Given the description of an element on the screen output the (x, y) to click on. 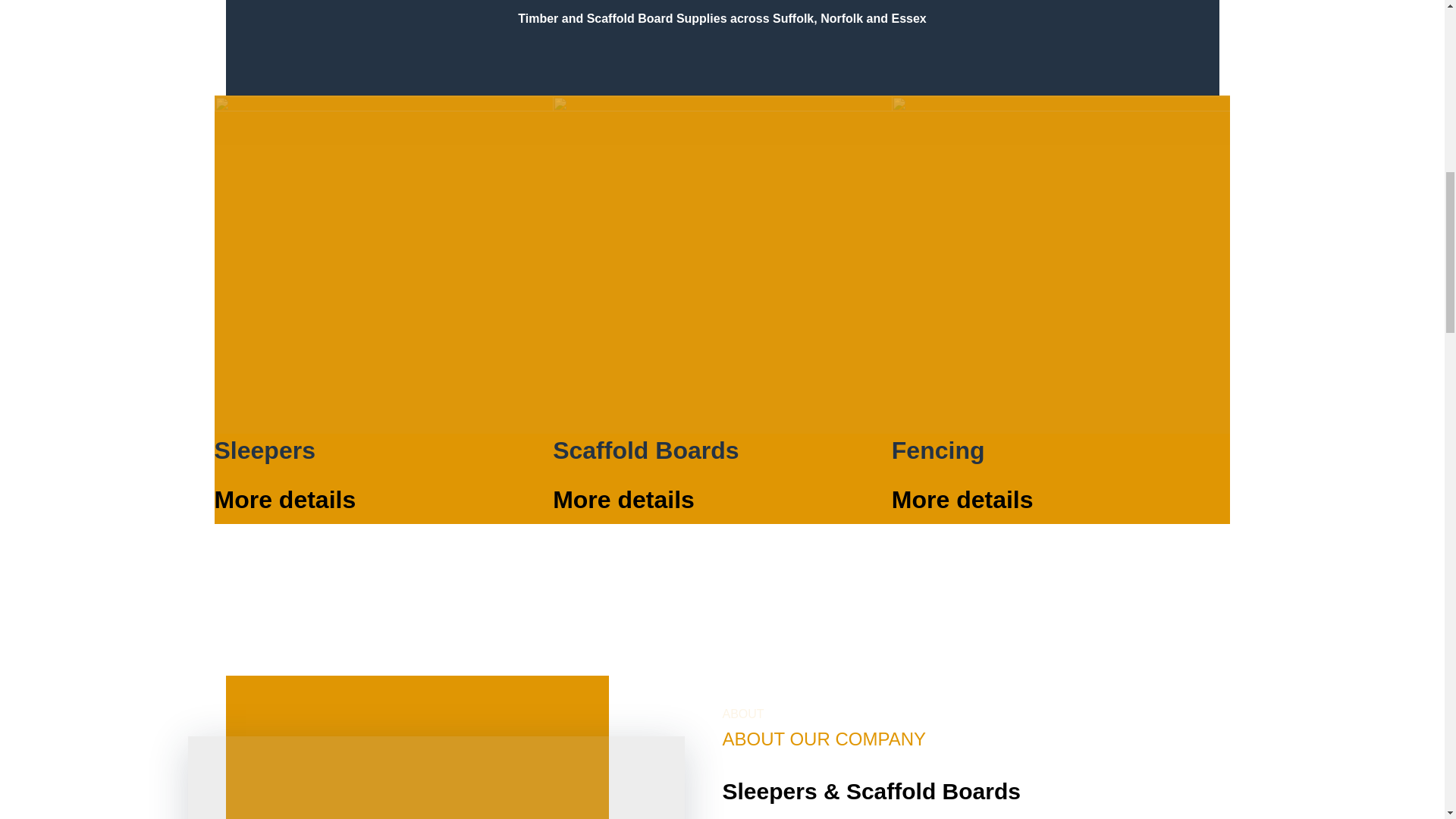
sleepers (383, 264)
FENCING (1060, 264)
sleepers (435, 777)
scaffold-board (722, 264)
